Given the description of an element on the screen output the (x, y) to click on. 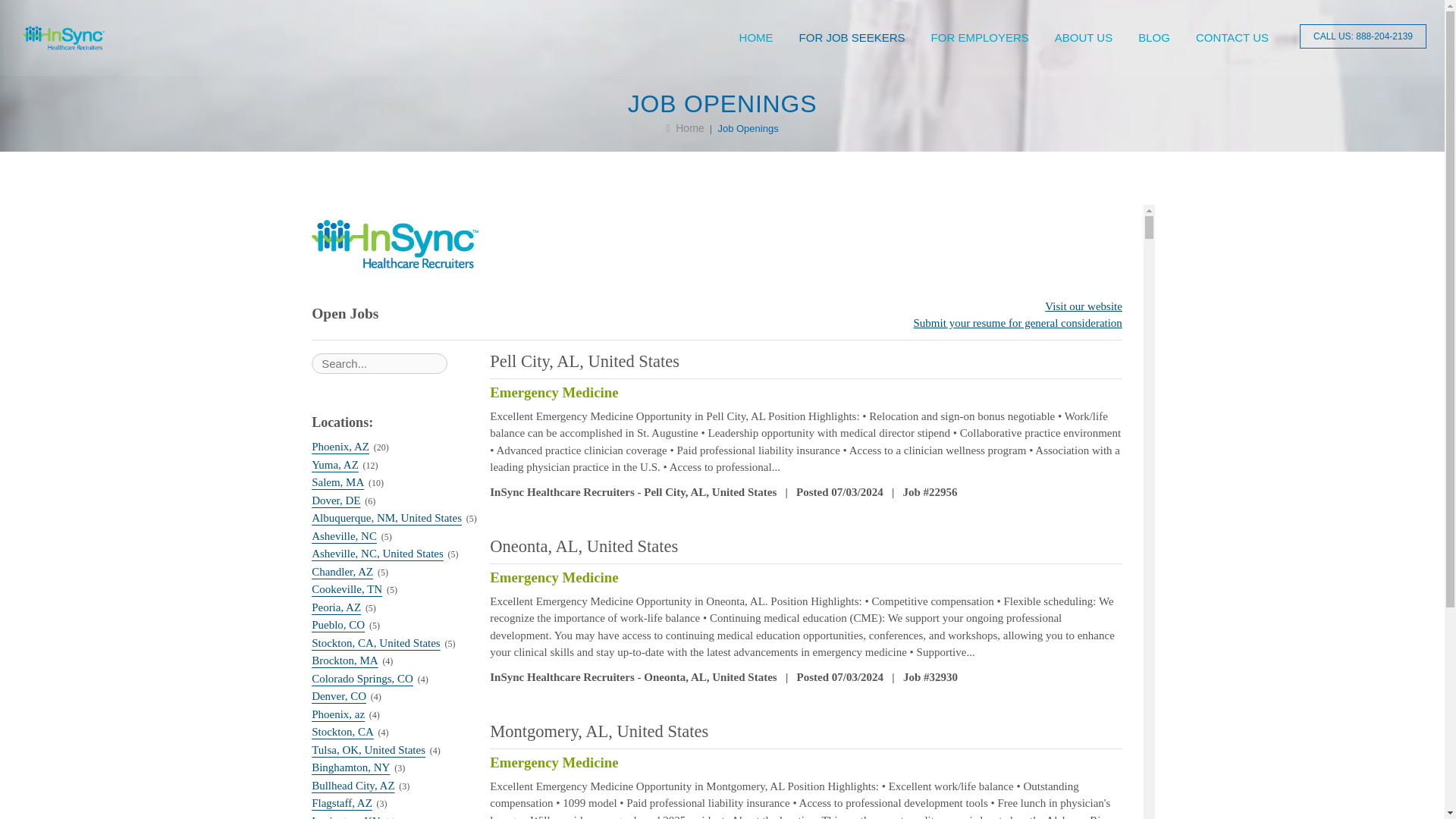
InSync Healthcare Recruiters (63, 38)
FOR EMPLOYERS (980, 38)
Go to InSync Healthcare Recruiters. (684, 127)
  Home (684, 127)
FOR JOB SEEKERS (852, 38)
CALL US: 888-204-2139 (1363, 36)
ABOUT US (1083, 38)
CONTACT US (1231, 38)
